Given the description of an element on the screen output the (x, y) to click on. 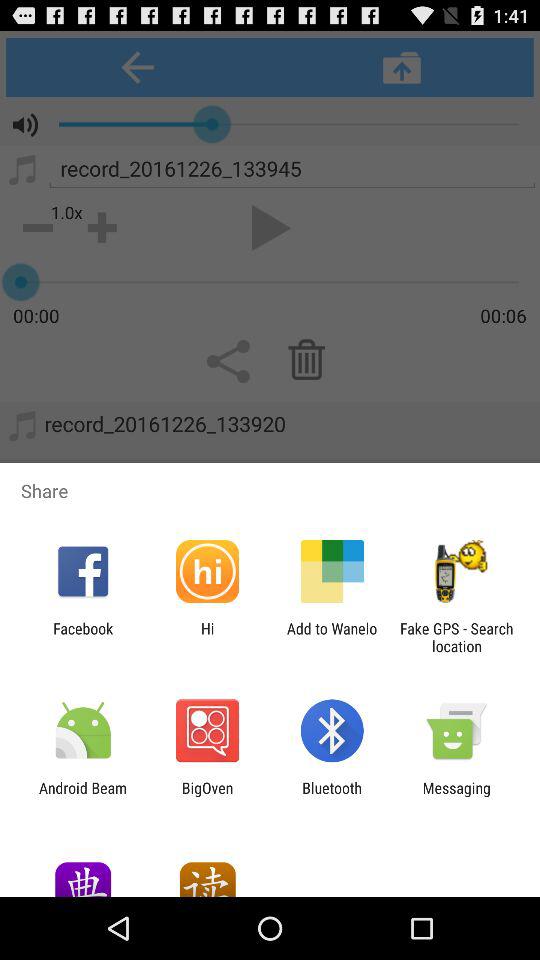
turn on item next to the facebook app (207, 637)
